Given the description of an element on the screen output the (x, y) to click on. 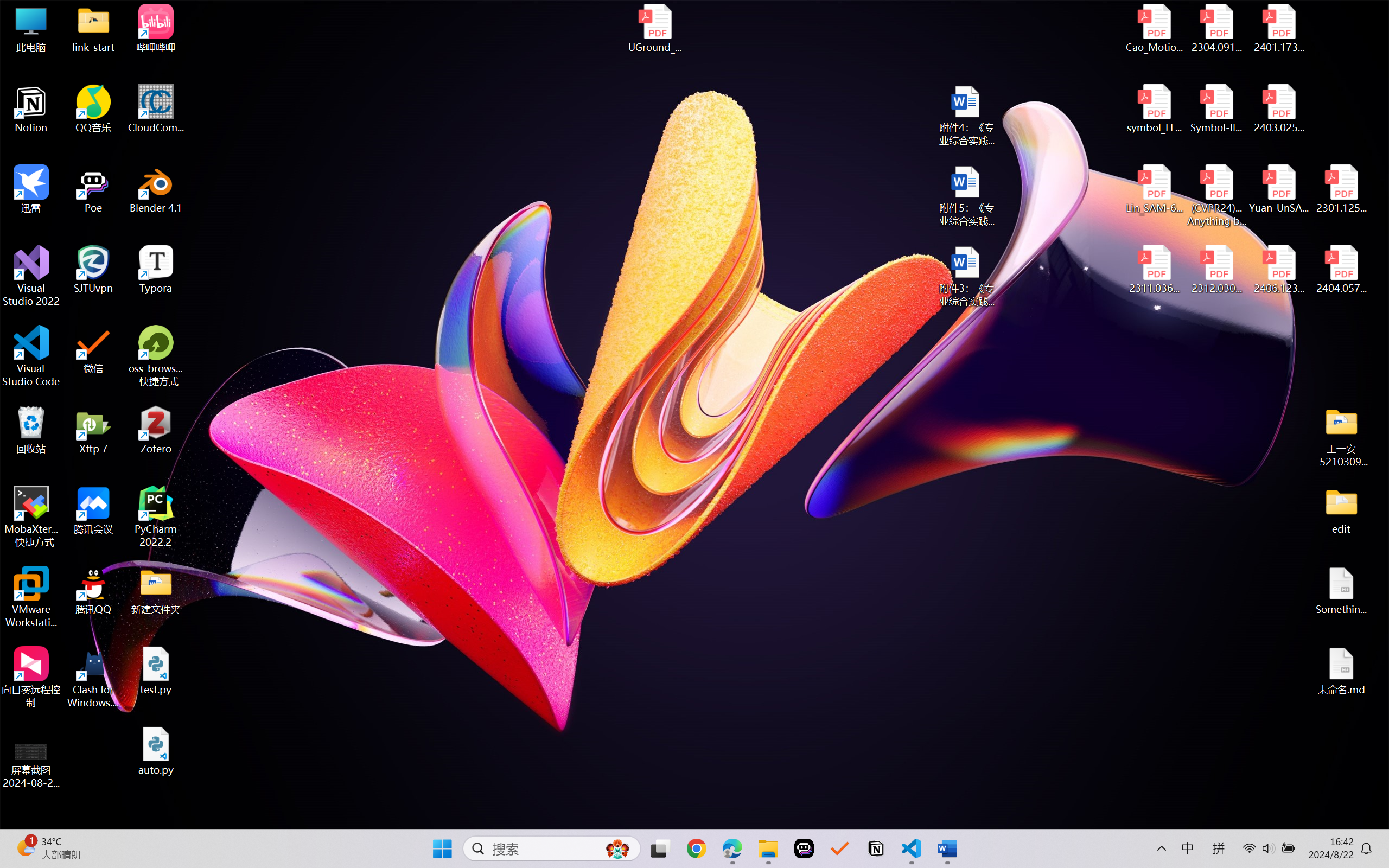
Something.md (1340, 591)
Typora (156, 269)
CloudCompare (156, 109)
2311.03658v2.pdf (1154, 269)
UGround_paper.pdf (654, 28)
auto.py (156, 751)
2401.17399v1.pdf (1278, 28)
(CVPR24)Matching Anything by Segmenting Anything.pdf (1216, 195)
